Given the description of an element on the screen output the (x, y) to click on. 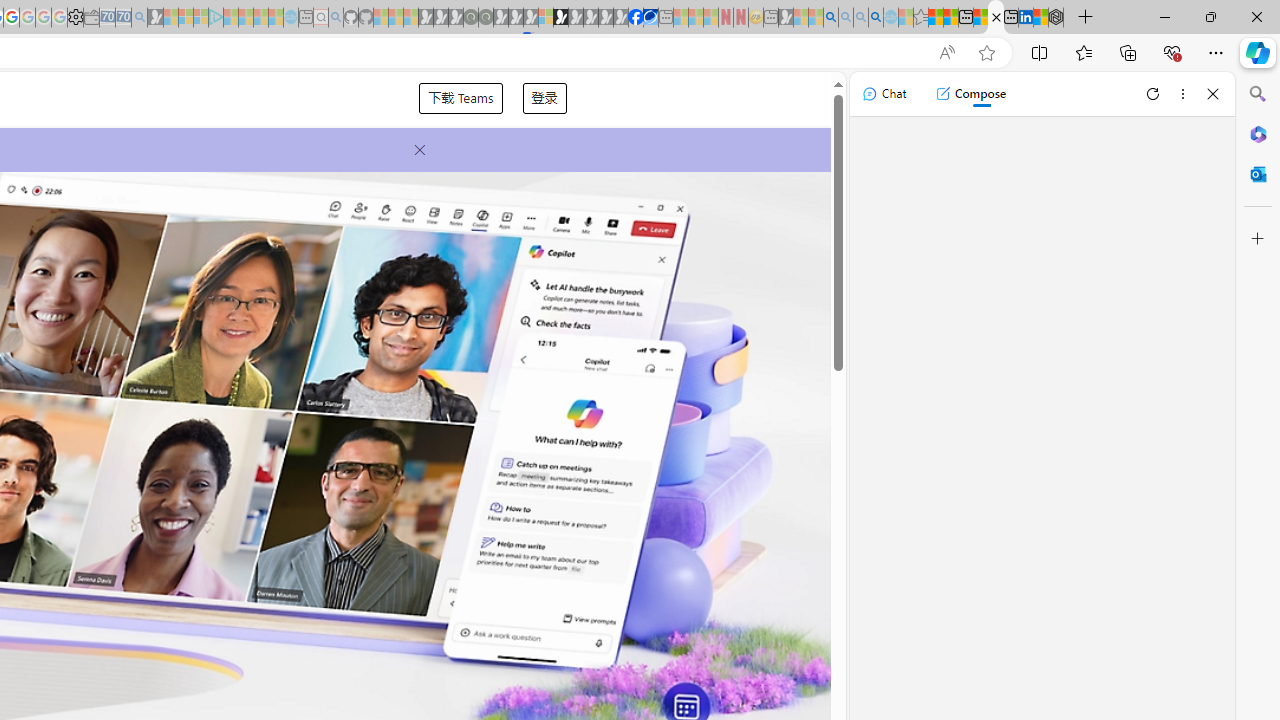
Compose (970, 93)
Home | Sky Blue Bikes - Sky Blue Bikes - Sleeping (291, 17)
Close Announcement Banner (413, 150)
Wallet - Sleeping (91, 17)
